Given the description of an element on the screen output the (x, y) to click on. 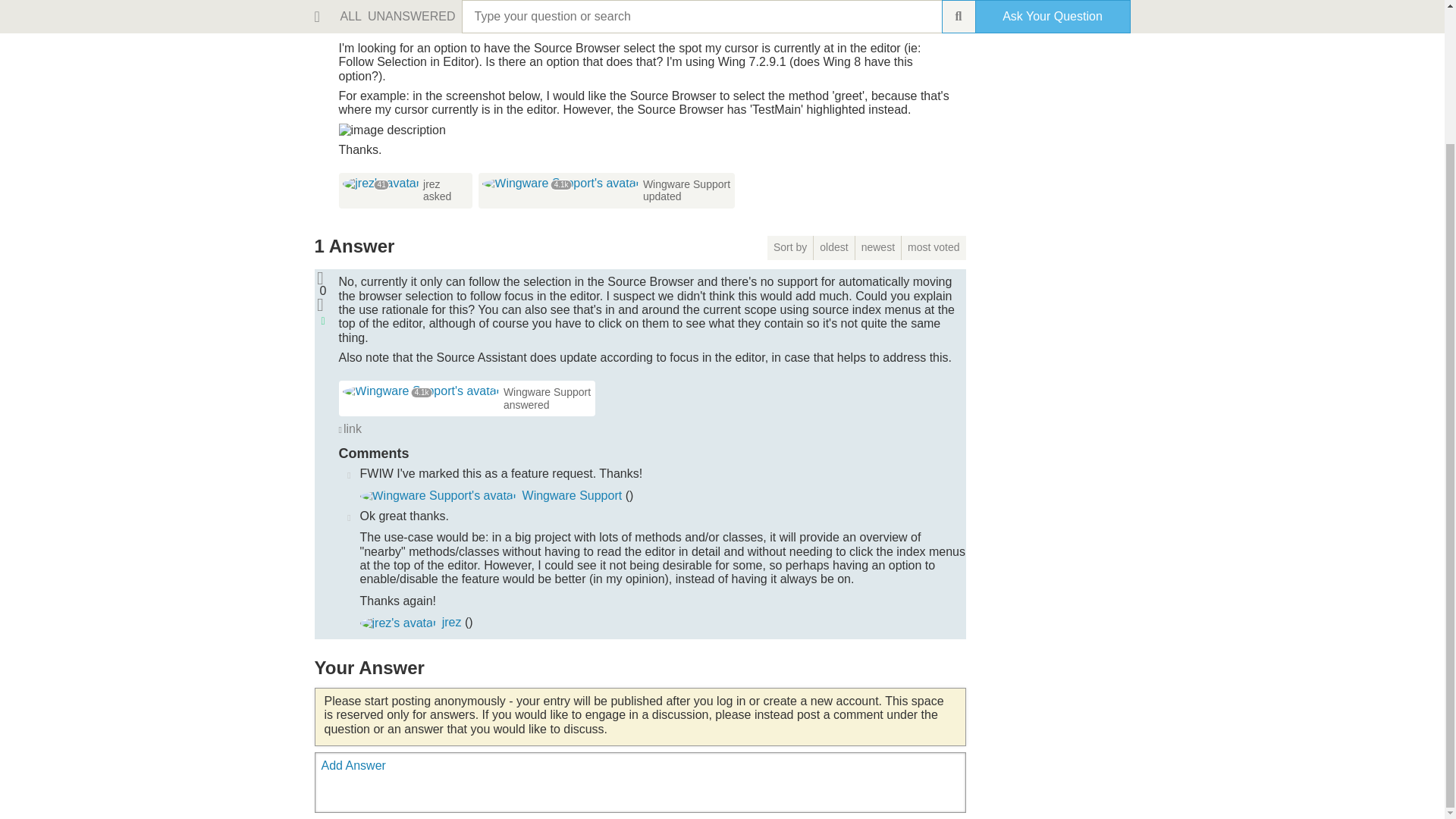
41 (381, 182)
link (349, 428)
jrez (432, 184)
upvote comment (348, 515)
newest (878, 247)
Wingware Support (437, 495)
4.1k (421, 390)
Wingware Support (572, 495)
updated (662, 196)
answered (526, 404)
jrez (397, 622)
permanent link (349, 428)
Wingware Support (560, 183)
Wingware Support (686, 184)
oldest (833, 247)
